Given the description of an element on the screen output the (x, y) to click on. 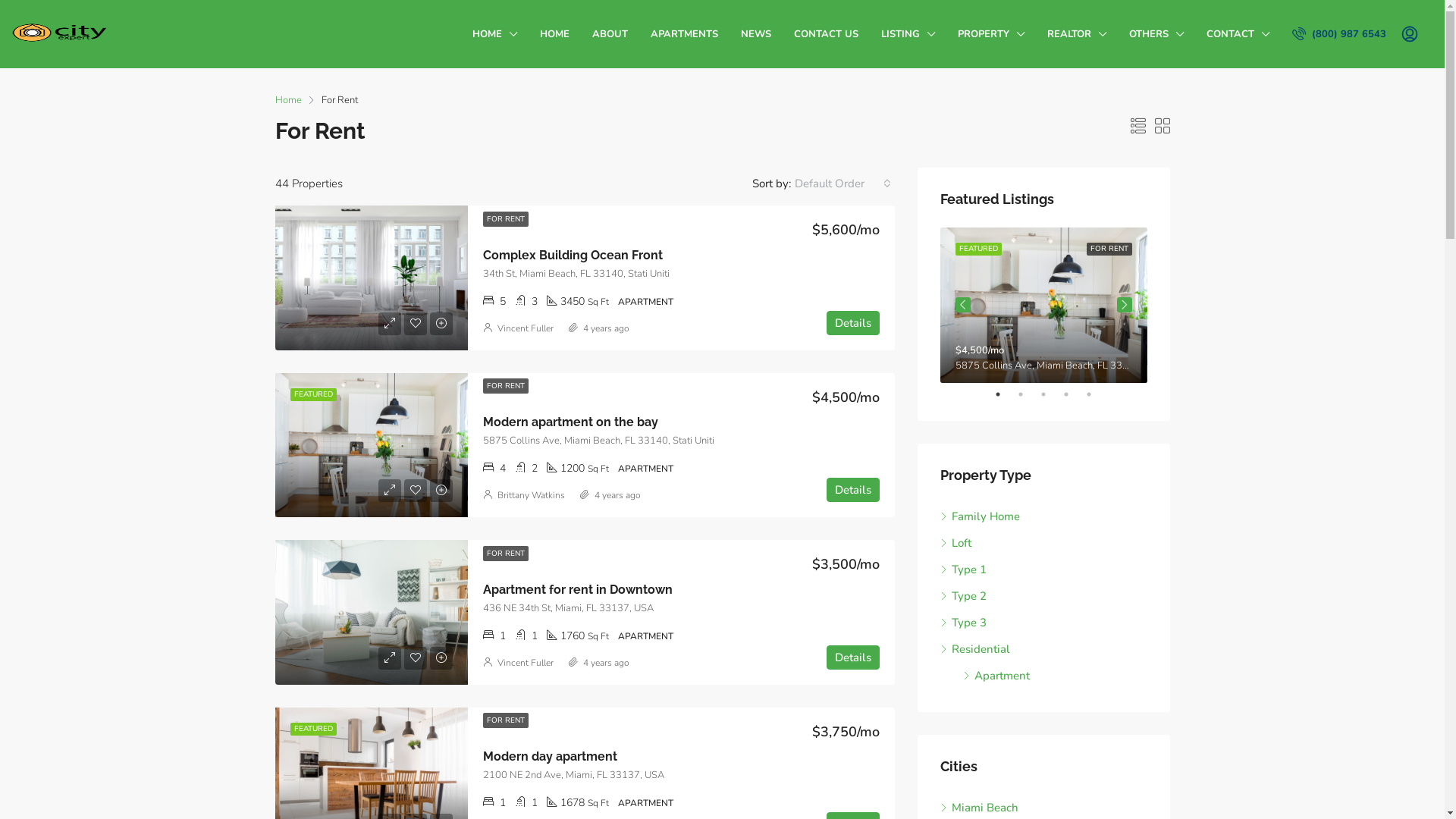
Vincent Fuller Element type: text (525, 328)
FOR RENT Element type: text (504, 385)
HOME Element type: text (554, 34)
Previous Element type: text (962, 304)
LISTING Element type: text (907, 34)
Family Home Element type: text (979, 516)
Default Order Element type: text (841, 183)
HOME Element type: text (494, 34)
Apartment Element type: text (996, 675)
ABOUT Element type: text (609, 34)
Vincent Fuller Element type: text (525, 662)
Residential Element type: text (975, 648)
3 Element type: text (1050, 393)
CONTACT Element type: text (1237, 34)
Brittany Watkins Element type: text (530, 495)
OTHERS Element type: text (1156, 34)
Modern day apartment Element type: text (549, 756)
FOR RENT Element type: text (504, 218)
Type 1 Element type: text (963, 569)
Miami Beach Element type: text (979, 807)
5 Element type: text (1096, 393)
Loft Element type: text (955, 542)
1 Element type: text (1005, 393)
FOR RENT Element type: text (1108, 248)
FOR RENT Element type: text (504, 553)
Type 2 Element type: text (963, 595)
Details Element type: text (852, 489)
Details Element type: text (852, 322)
(800) 987 6543 Element type: text (1342, 33)
Type 3 Element type: text (963, 622)
Home Element type: text (287, 100)
2 Element type: text (1027, 393)
NEWS Element type: text (755, 34)
REALTOR Element type: text (1076, 34)
Modern apartment on the bay Element type: text (569, 421)
4 Element type: text (1073, 393)
Apartment for rent in Downtown Element type: text (576, 589)
APARTMENTS Element type: text (684, 34)
CONTACT US Element type: text (825, 34)
FOR RENT Element type: text (504, 720)
Details Element type: text (852, 656)
Complex Building Ocean Front Element type: text (572, 254)
PROPERTY Element type: text (990, 34)
Next Element type: text (1123, 304)
